Given the description of an element on the screen output the (x, y) to click on. 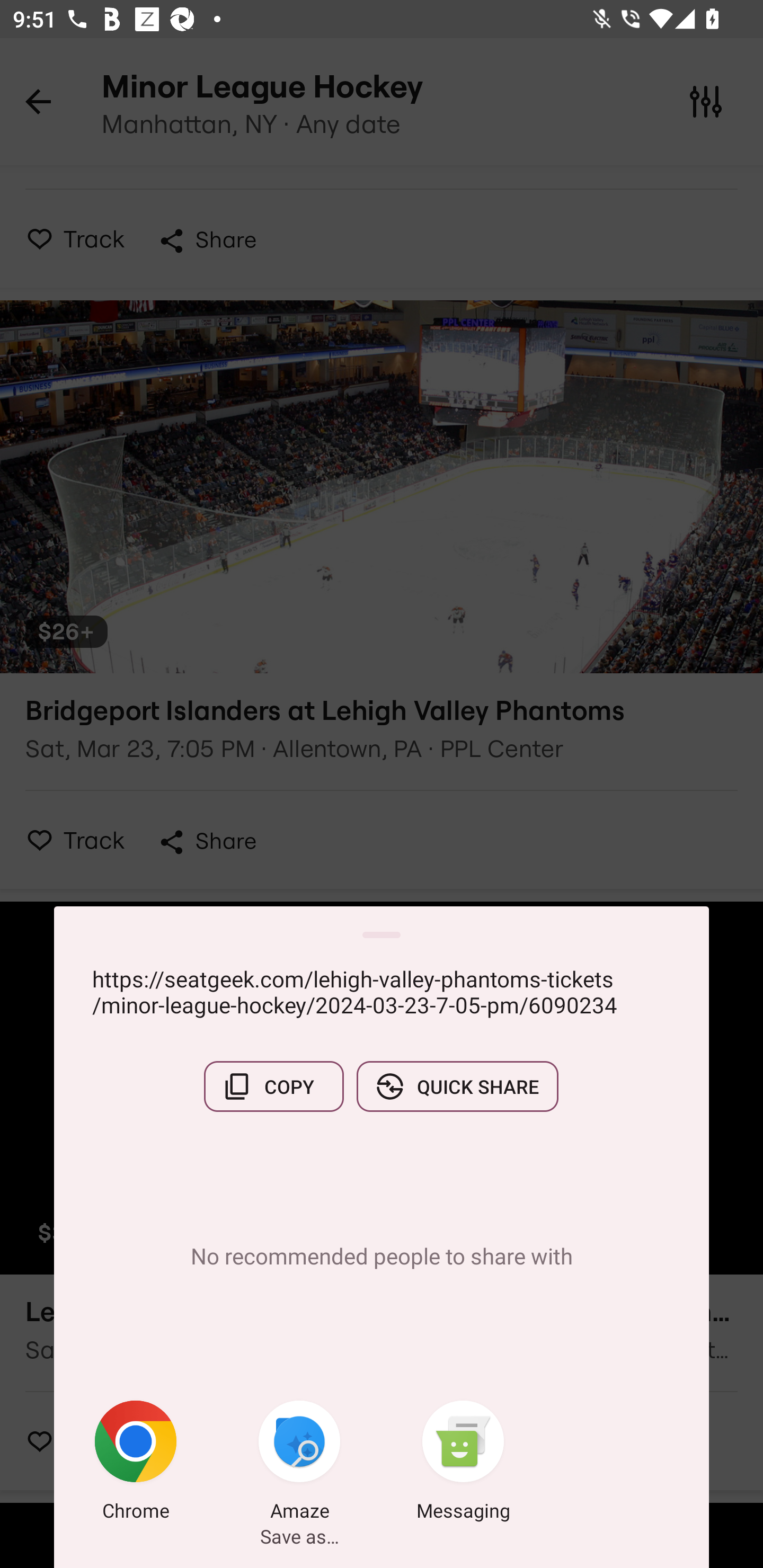
COPY (273, 1086)
QUICK SHARE (457, 1086)
Chrome (135, 1463)
Amaze Save as… (299, 1463)
Messaging (463, 1463)
